Given the description of an element on the screen output the (x, y) to click on. 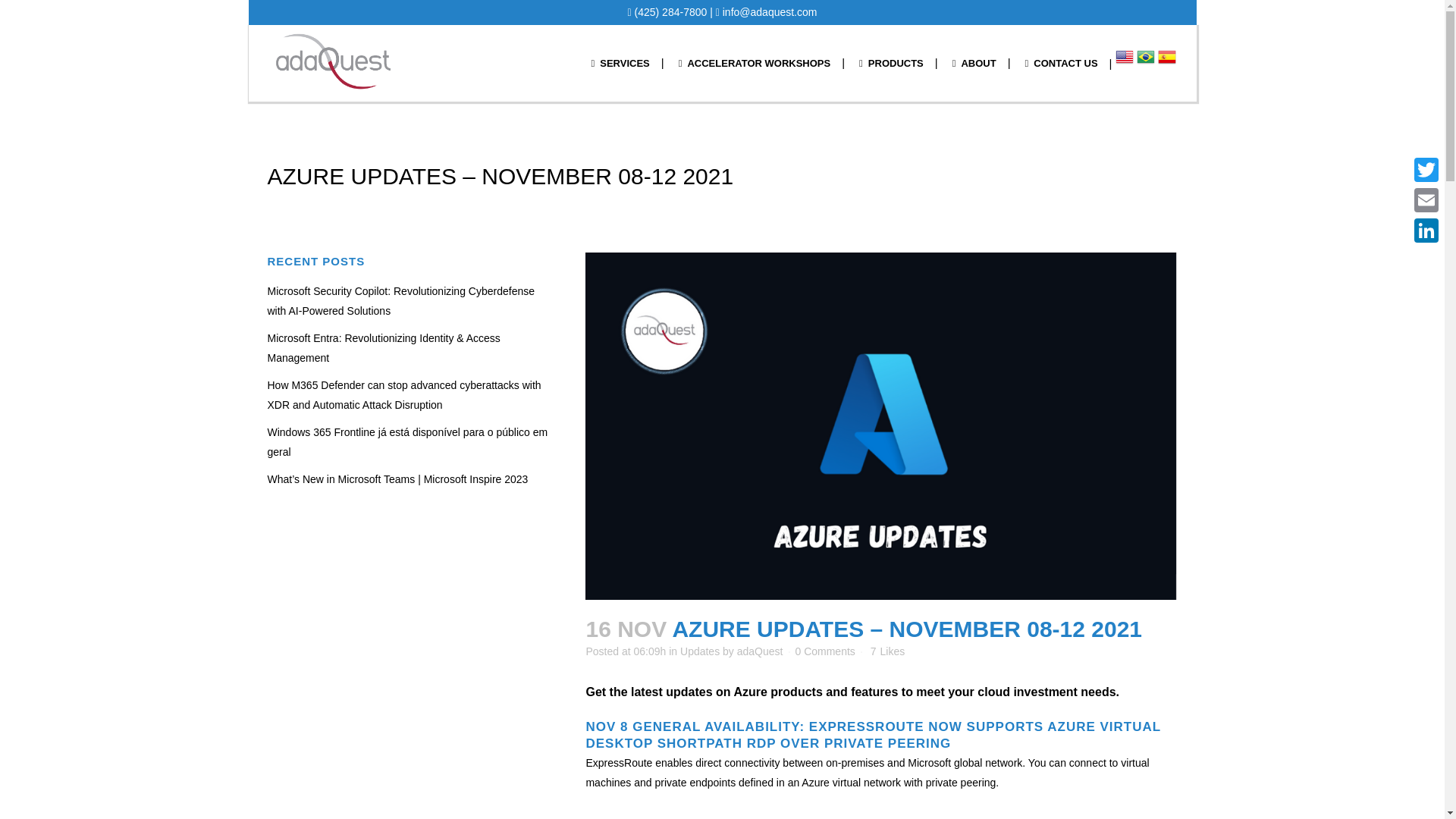
PRODUCTS (890, 63)
Twitter (1425, 169)
Like this (887, 651)
ACCELERATOR WORKSHOPS (754, 63)
LinkedIn (1425, 230)
ABOUT (974, 63)
Email (1425, 200)
SERVICES (620, 63)
